Given the description of an element on the screen output the (x, y) to click on. 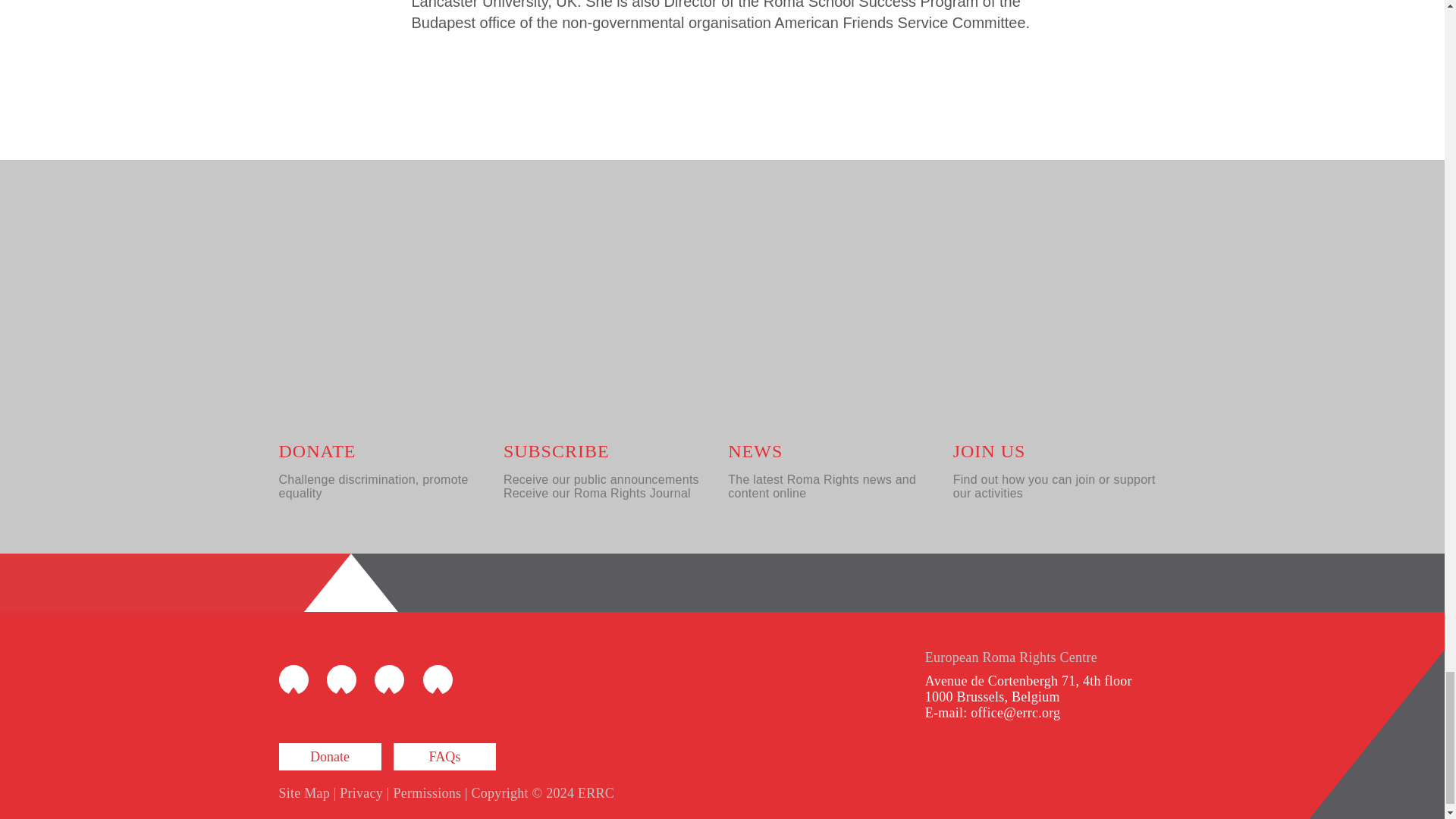
SUBSCRIBE (556, 451)
DONATE (317, 451)
NEWS (755, 451)
